Given the description of an element on the screen output the (x, y) to click on. 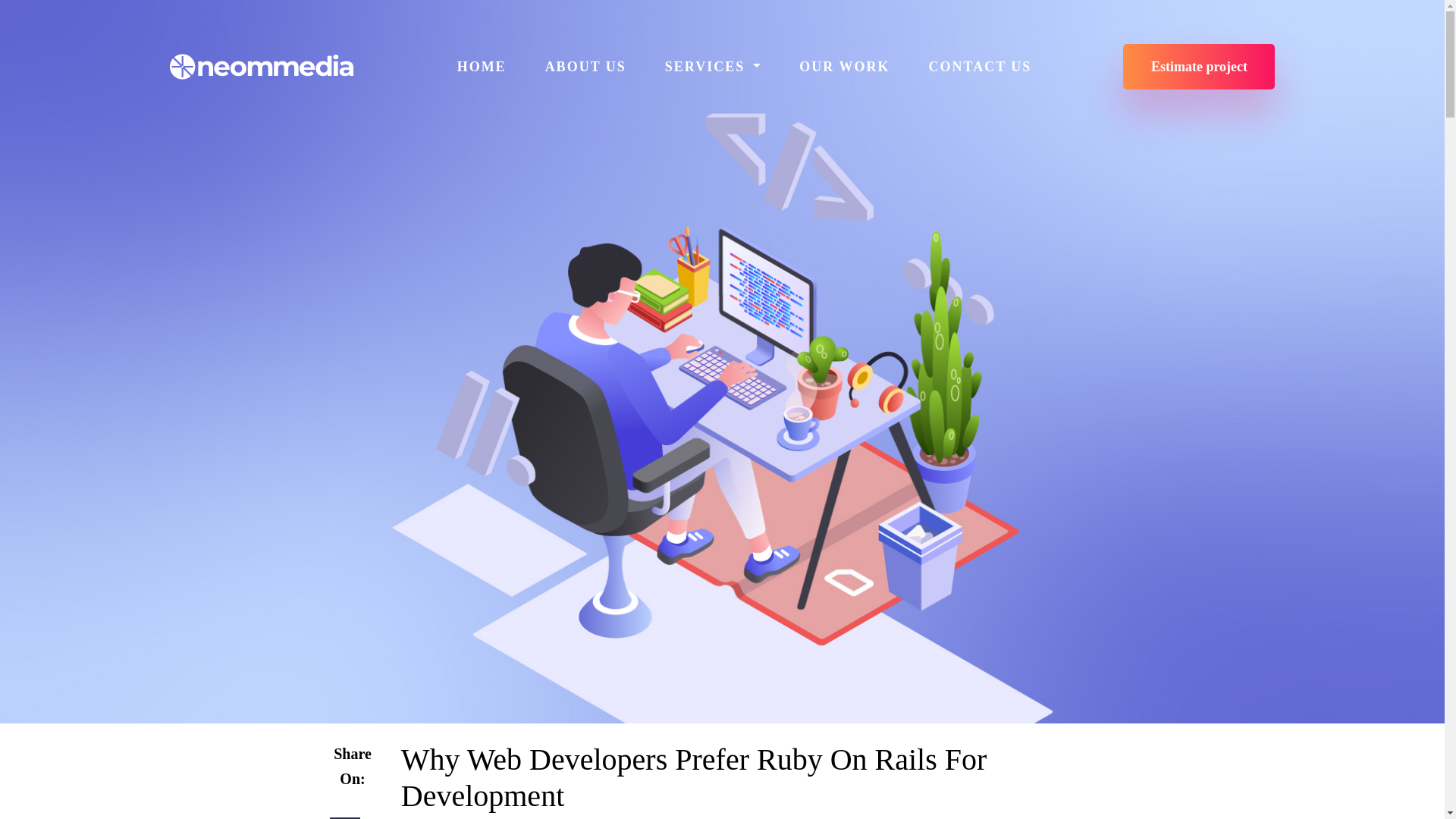
CONTACT US (978, 65)
SERVICES (713, 65)
OUR WORK (844, 65)
ABOUT US (584, 65)
Estimate project (1198, 66)
